Given the description of an element on the screen output the (x, y) to click on. 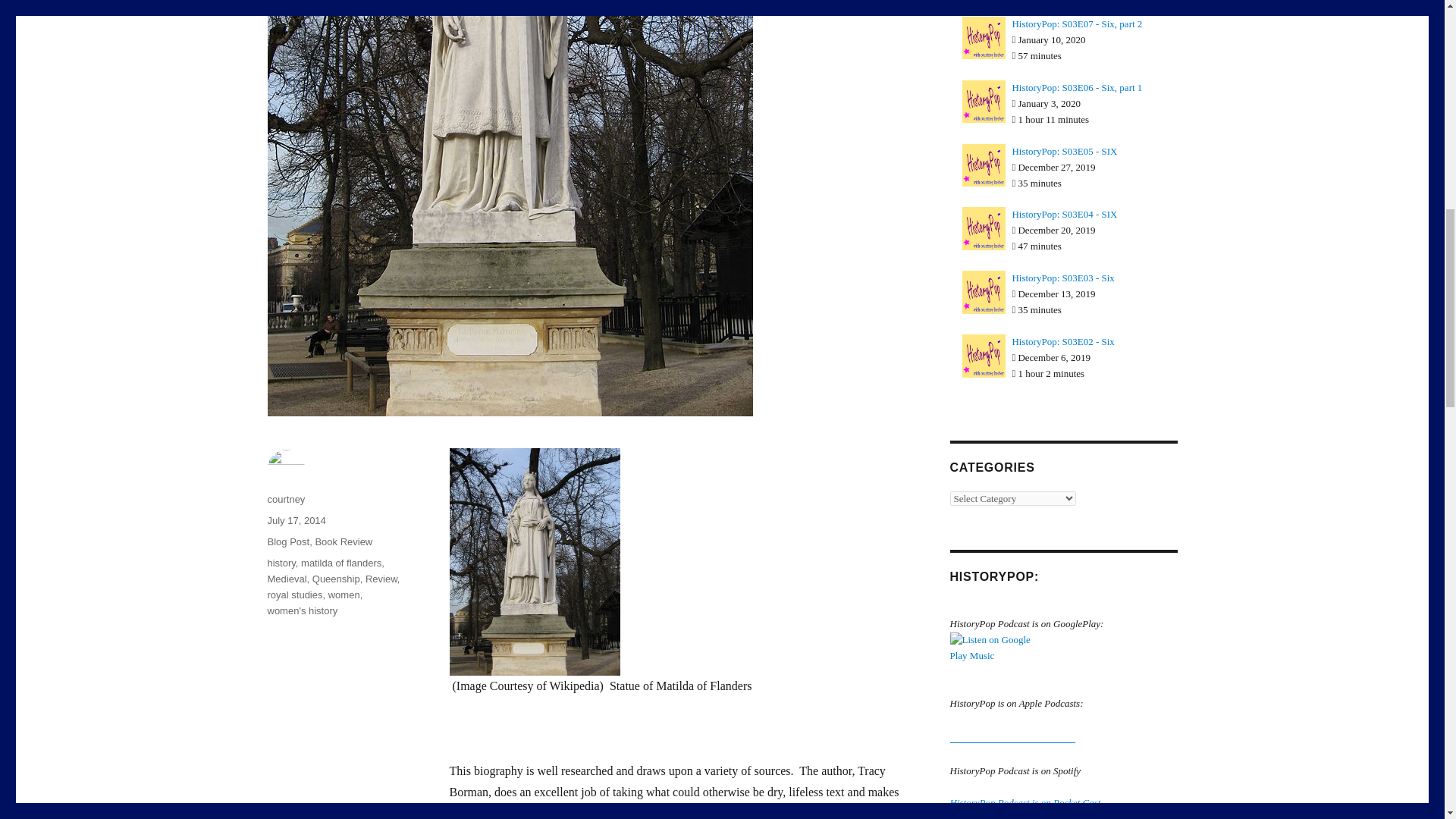
courtney (285, 499)
matilda of flanders (341, 562)
history (280, 562)
women's history (301, 610)
Queenship (336, 578)
Medieval (285, 578)
Blog Post (287, 541)
royal studies (293, 594)
women (344, 594)
Book Review (343, 541)
July 17, 2014 (295, 520)
Review (381, 578)
HistoryPop: S03E07 - Six, part 2 (1076, 23)
